Given the description of an element on the screen output the (x, y) to click on. 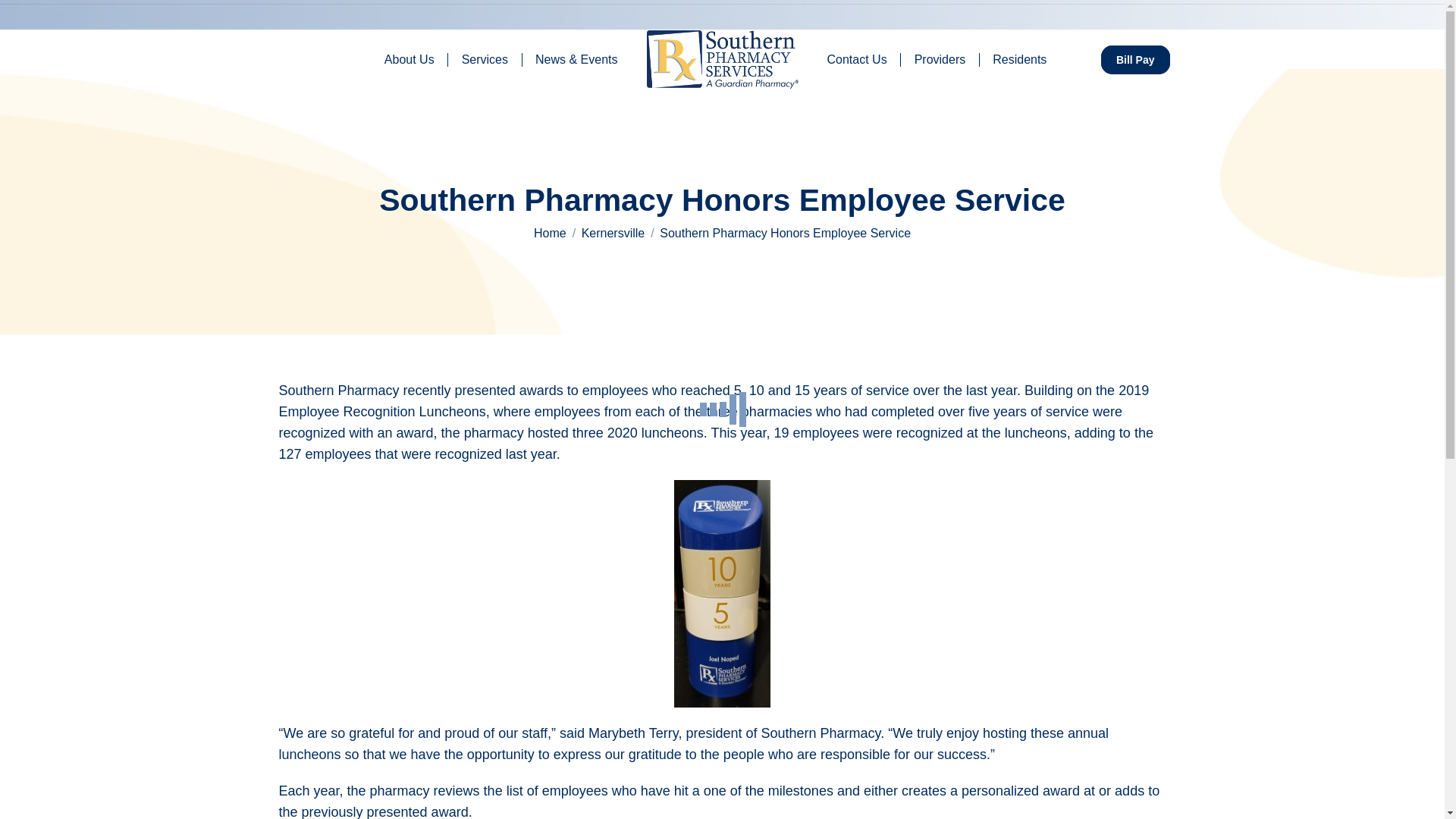
Providers (940, 58)
Residents (1019, 58)
Kernersville (612, 232)
Contact Us (856, 58)
Services (484, 58)
Home (550, 232)
About Us (409, 58)
